Given the description of an element on the screen output the (x, y) to click on. 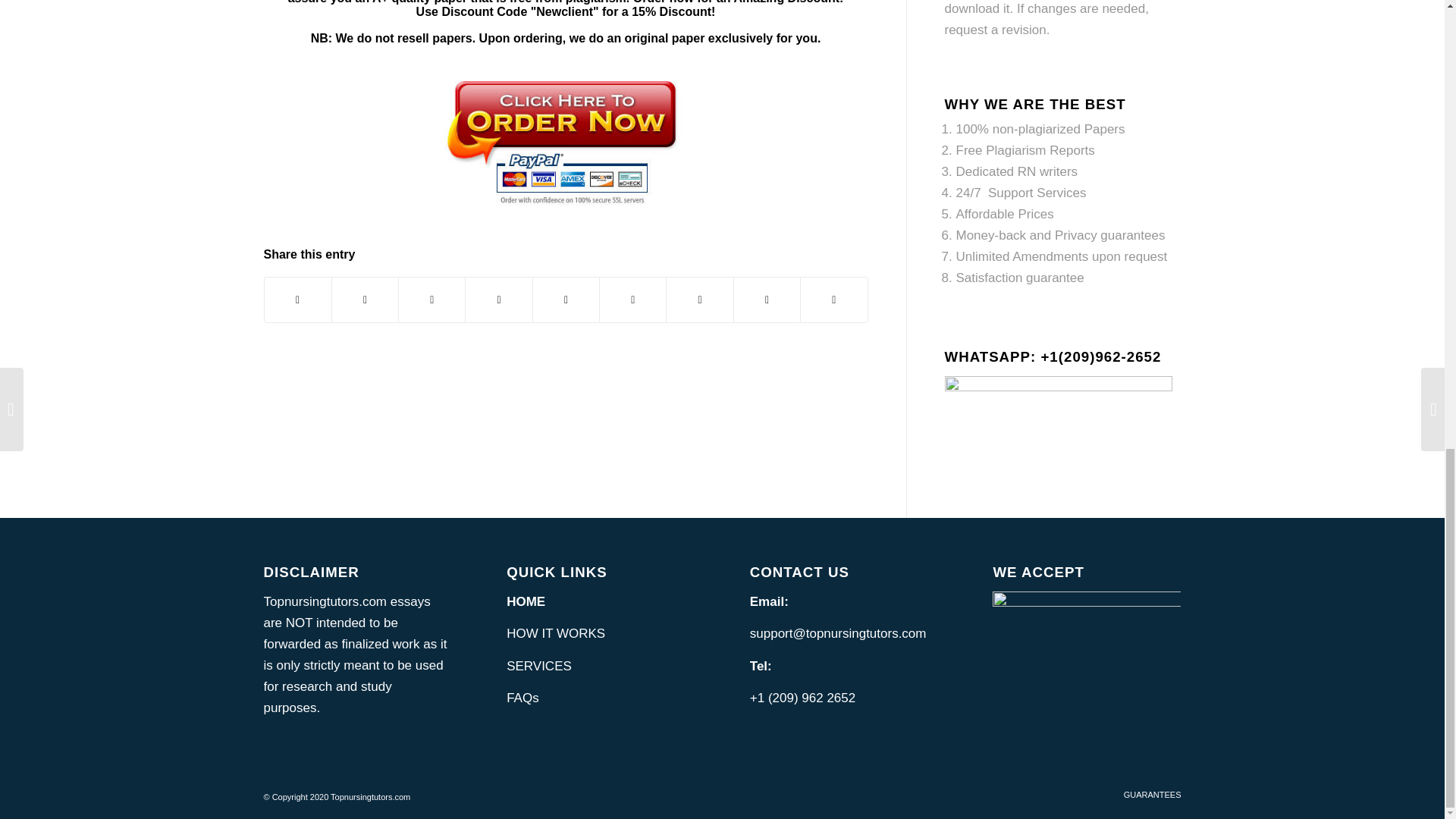
HOME (525, 601)
GUARANTEES (1152, 794)
SERVICES (539, 666)
HOW IT WORKS (555, 633)
FAQs (522, 698)
